Given the description of an element on the screen output the (x, y) to click on. 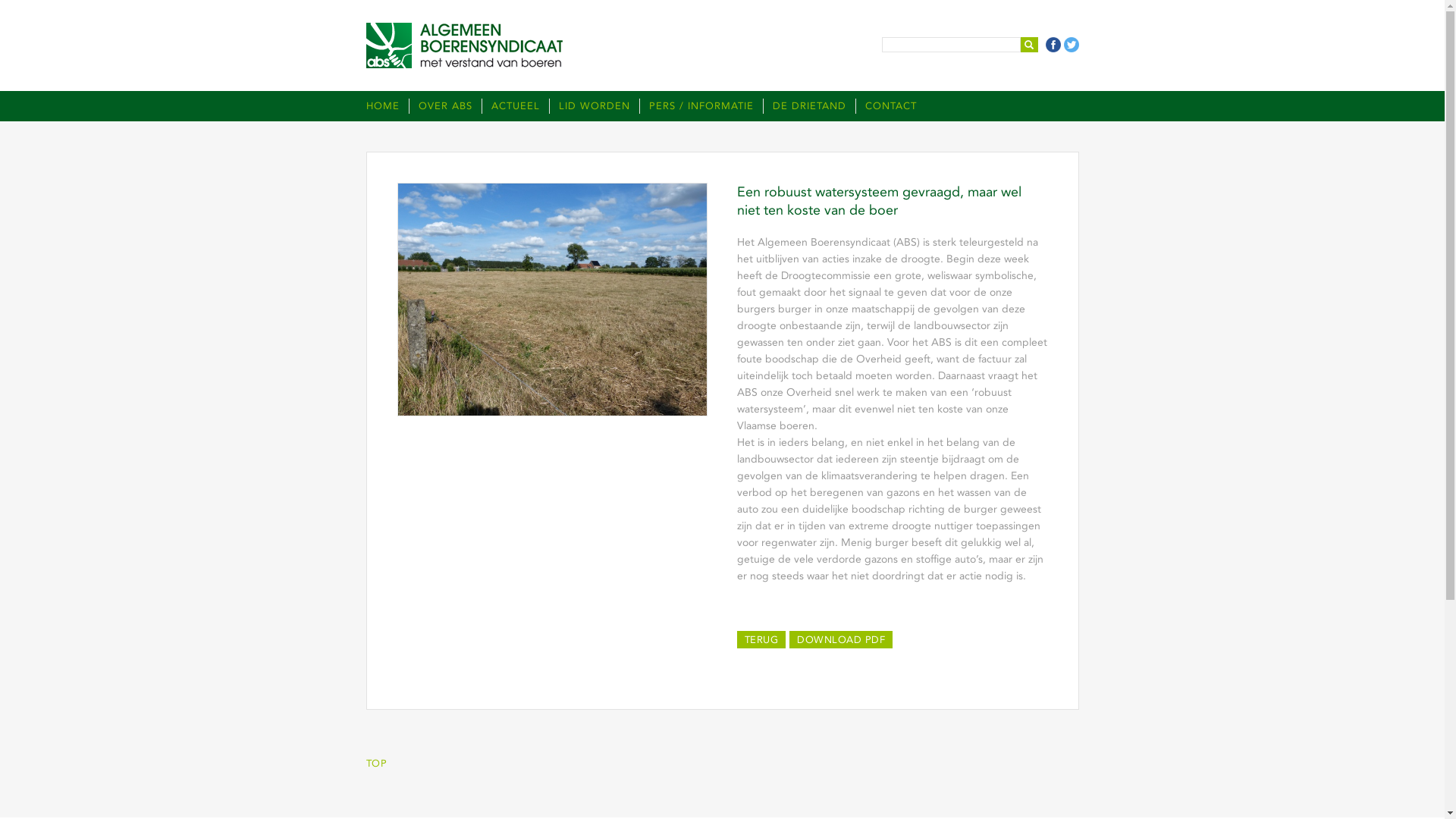
TERUG Element type: text (761, 639)
HOME Element type: text (386, 105)
TOP Element type: text (375, 762)
DOWNLOAD PDF Element type: text (840, 639)
CONTACT Element type: text (885, 105)
OVER ABS Element type: text (443, 105)
PERS / INFORMATIE Element type: text (700, 105)
LID WORDEN Element type: text (594, 105)
DE DRIETAND Element type: text (808, 105)
ACTUEEL Element type: text (514, 105)
